Given the description of an element on the screen output the (x, y) to click on. 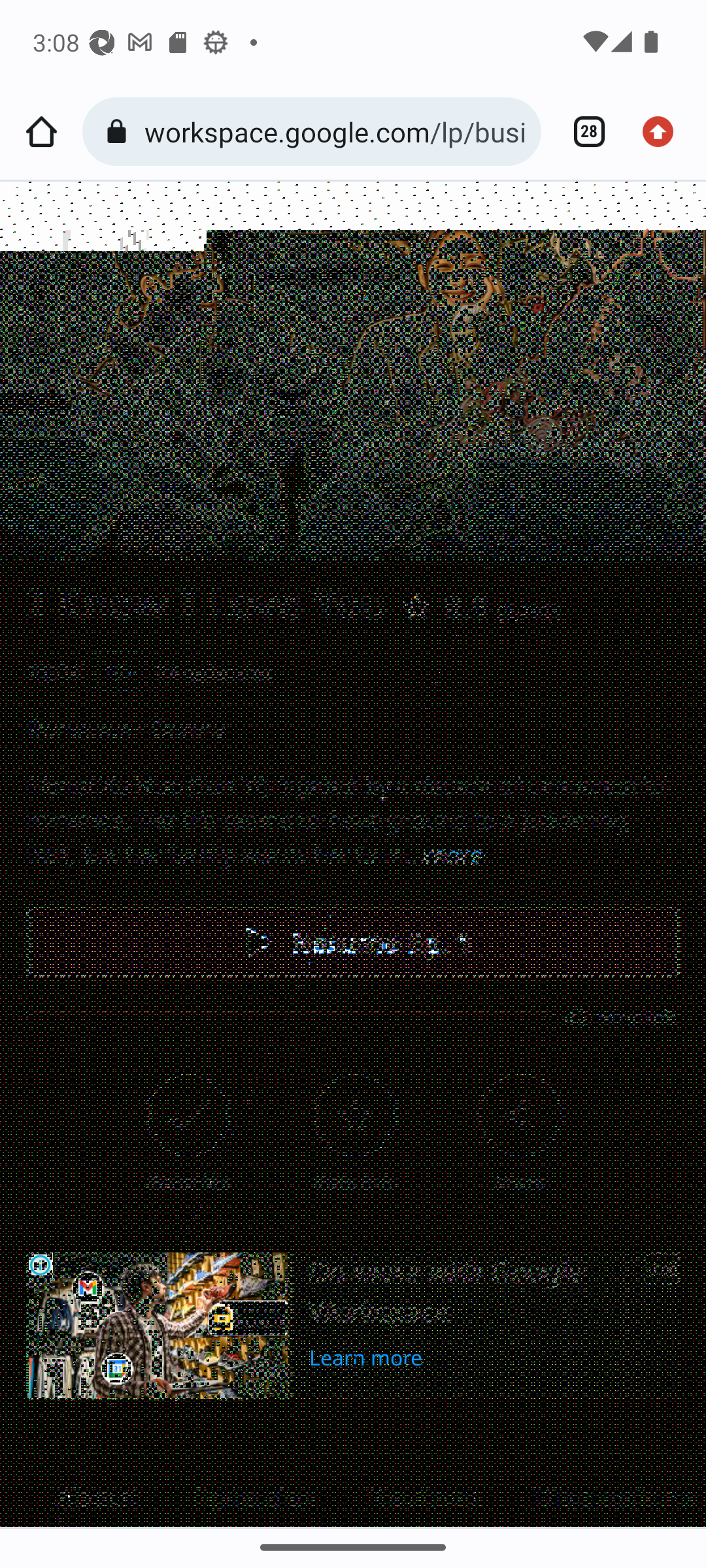
Home (41, 131)
Connection is secure (120, 131)
Switch or close tabs (582, 131)
Update available. More options (664, 131)
